Given the description of an element on the screen output the (x, y) to click on. 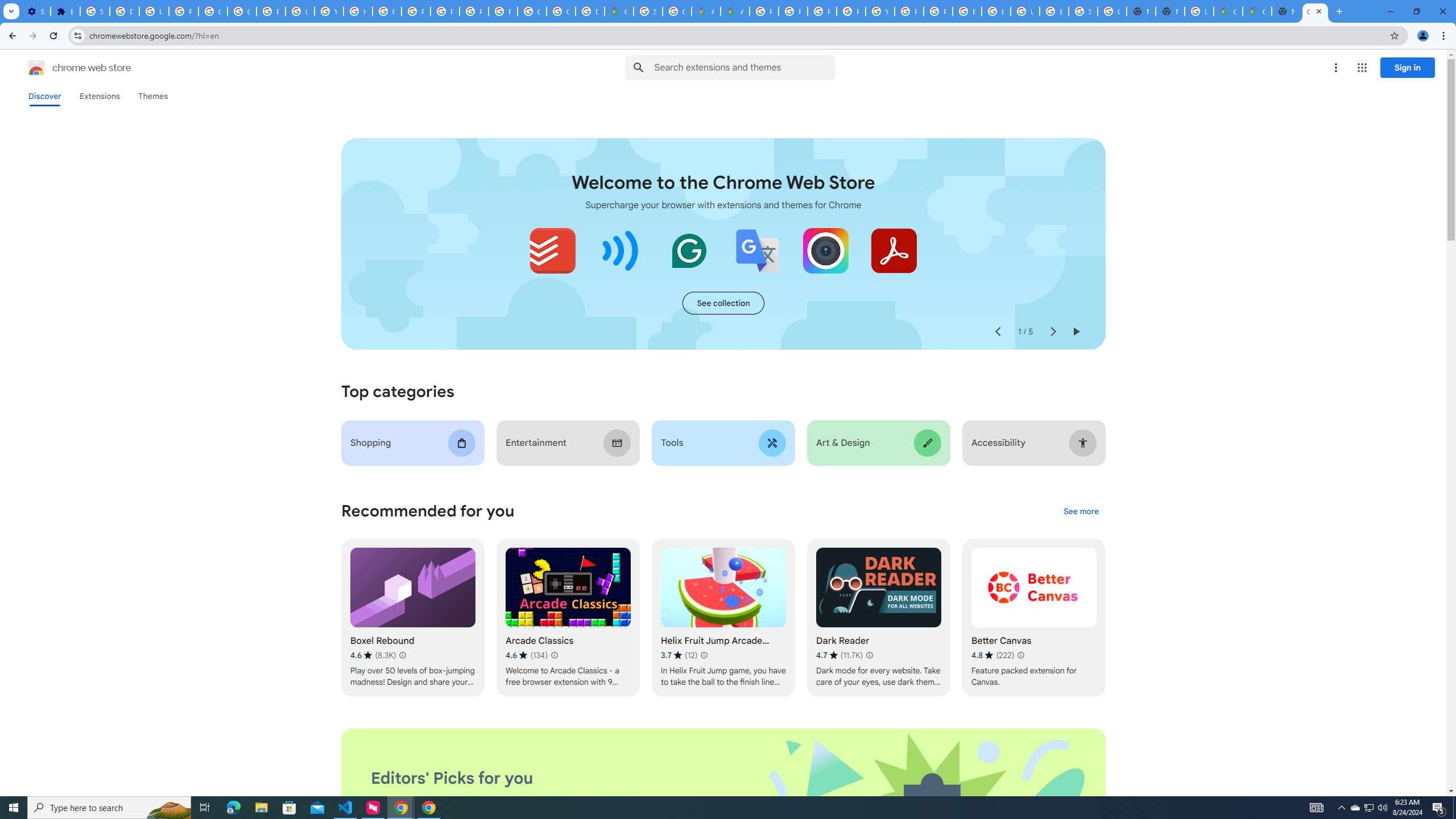
Chrome Web Store (1315, 11)
Learn more about results and reviews "Dark Reader" (869, 655)
Arcade Classics (567, 617)
Privacy Help Center - Policies Help (415, 11)
Todoist for Chrome (552, 250)
Policy Accountability and Transparency - Transparency Center (763, 11)
Boxel Rebound (412, 617)
Average rating 3.7 out of 5 stars. 12 ratings. (679, 655)
